Given the description of an element on the screen output the (x, y) to click on. 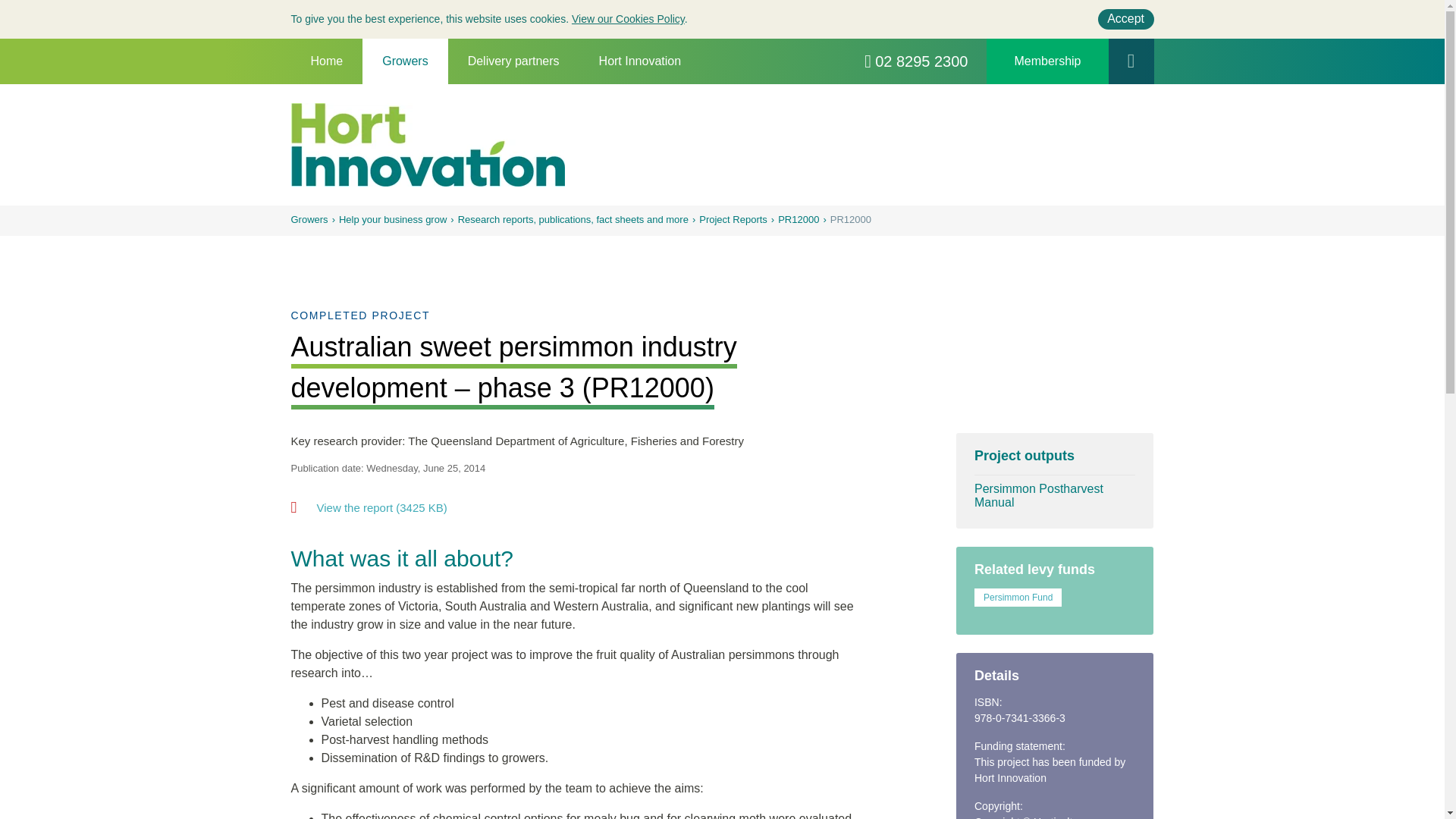
Growers (404, 61)
Accept (1125, 19)
Delivery partners (513, 61)
02 8295 2300 (916, 60)
Persimmon Postharvest Manual (1054, 495)
Home (326, 61)
View our Cookies Policy (628, 19)
